Given the description of an element on the screen output the (x, y) to click on. 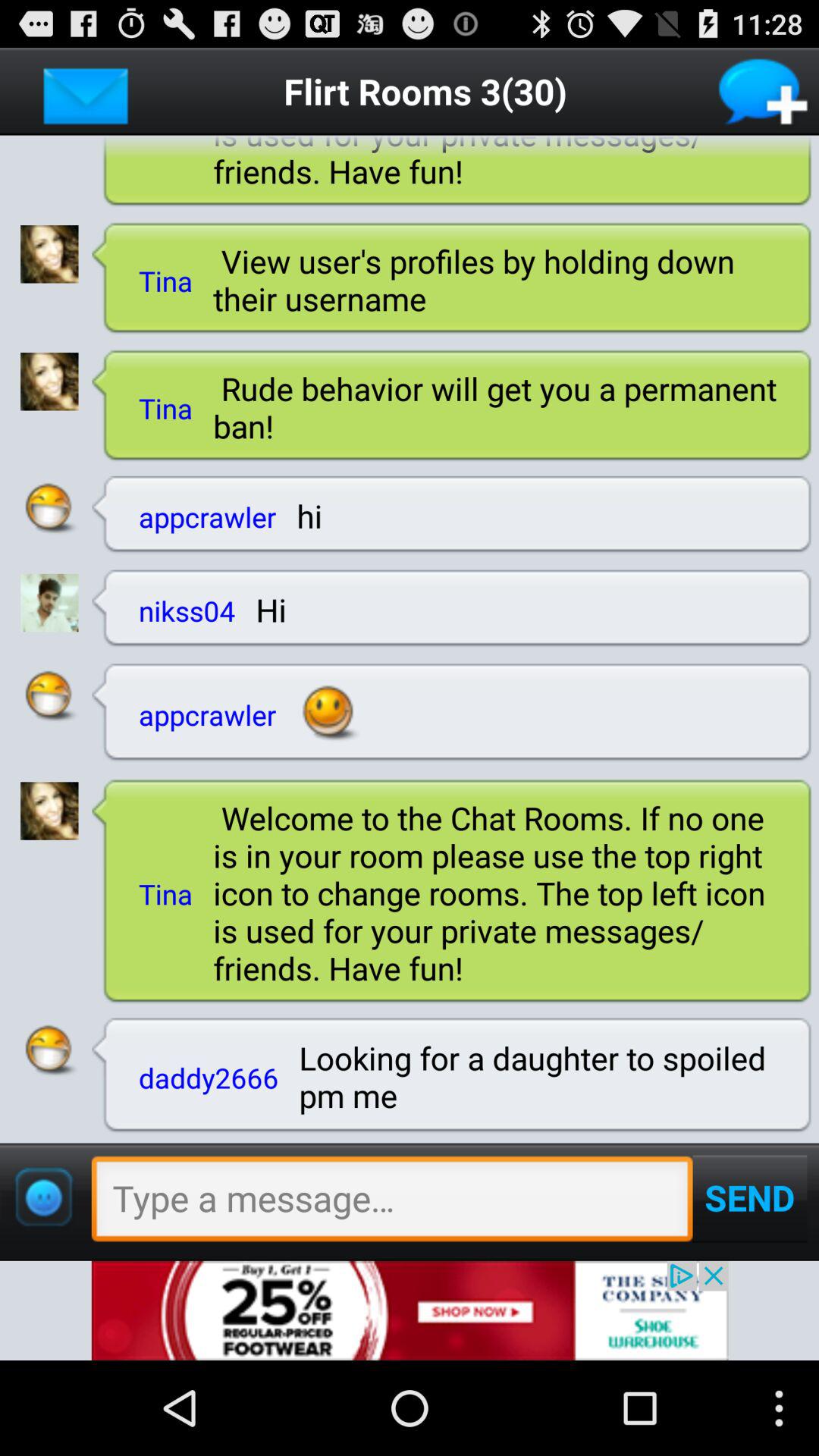
select the toy sympol (43, 1197)
